Given the description of an element on the screen output the (x, y) to click on. 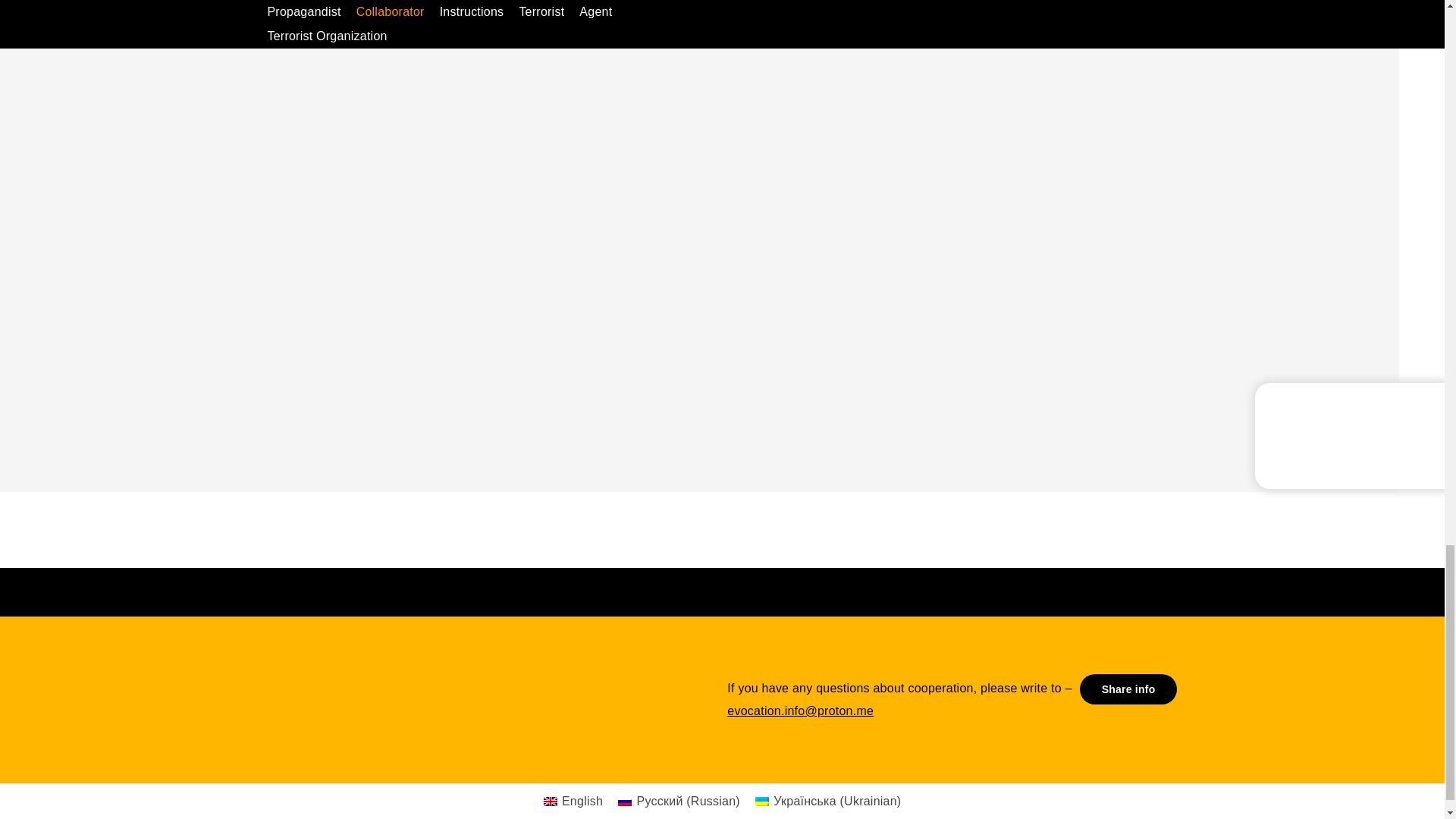
Share info (1128, 689)
English (573, 801)
